Given the description of an element on the screen output the (x, y) to click on. 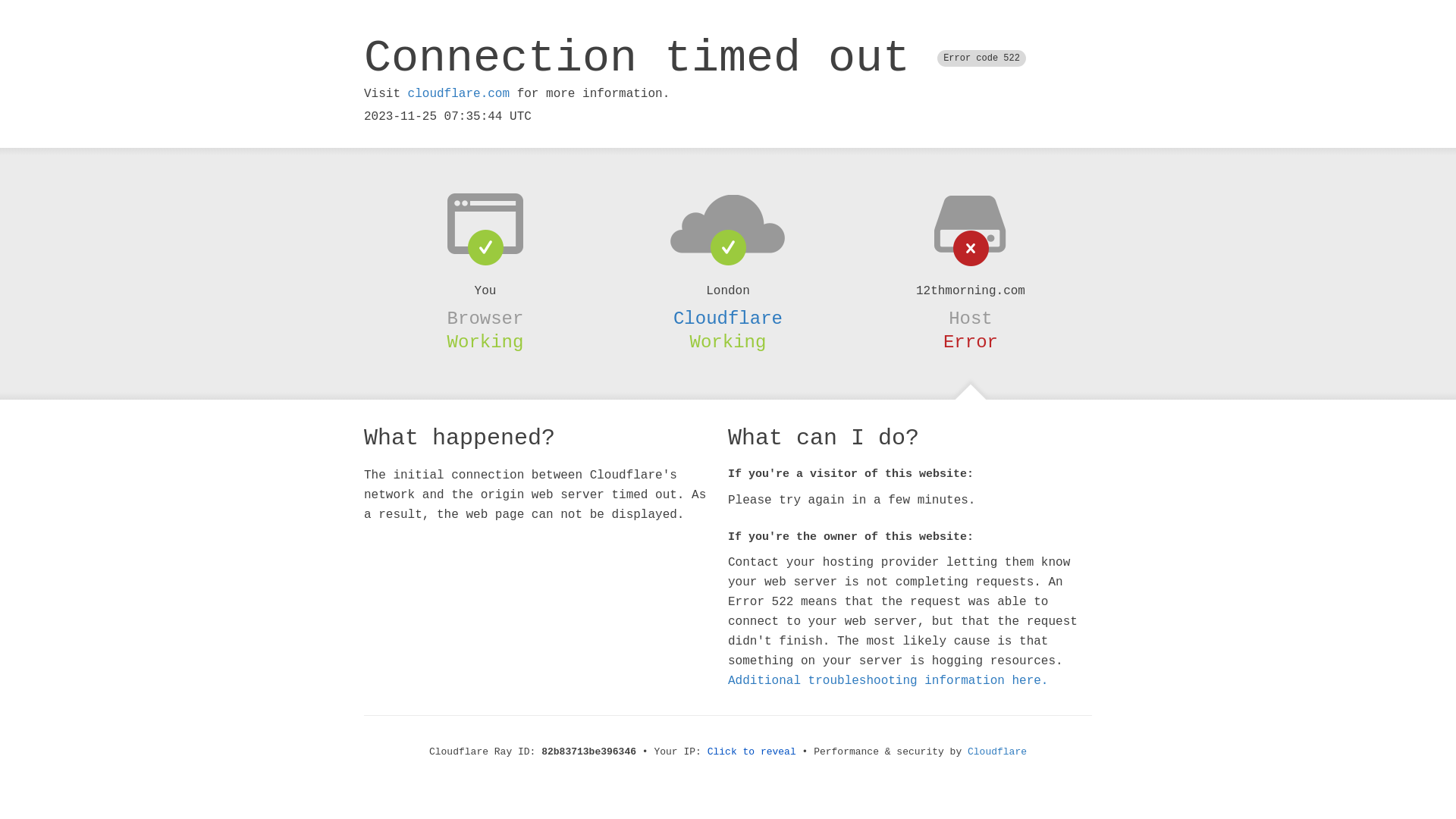
Cloudflare Element type: text (996, 751)
Additional troubleshooting information here. Element type: text (888, 680)
Cloudflare Element type: text (727, 318)
cloudflare.com Element type: text (458, 93)
Click to reveal Element type: text (751, 751)
